Given the description of an element on the screen output the (x, y) to click on. 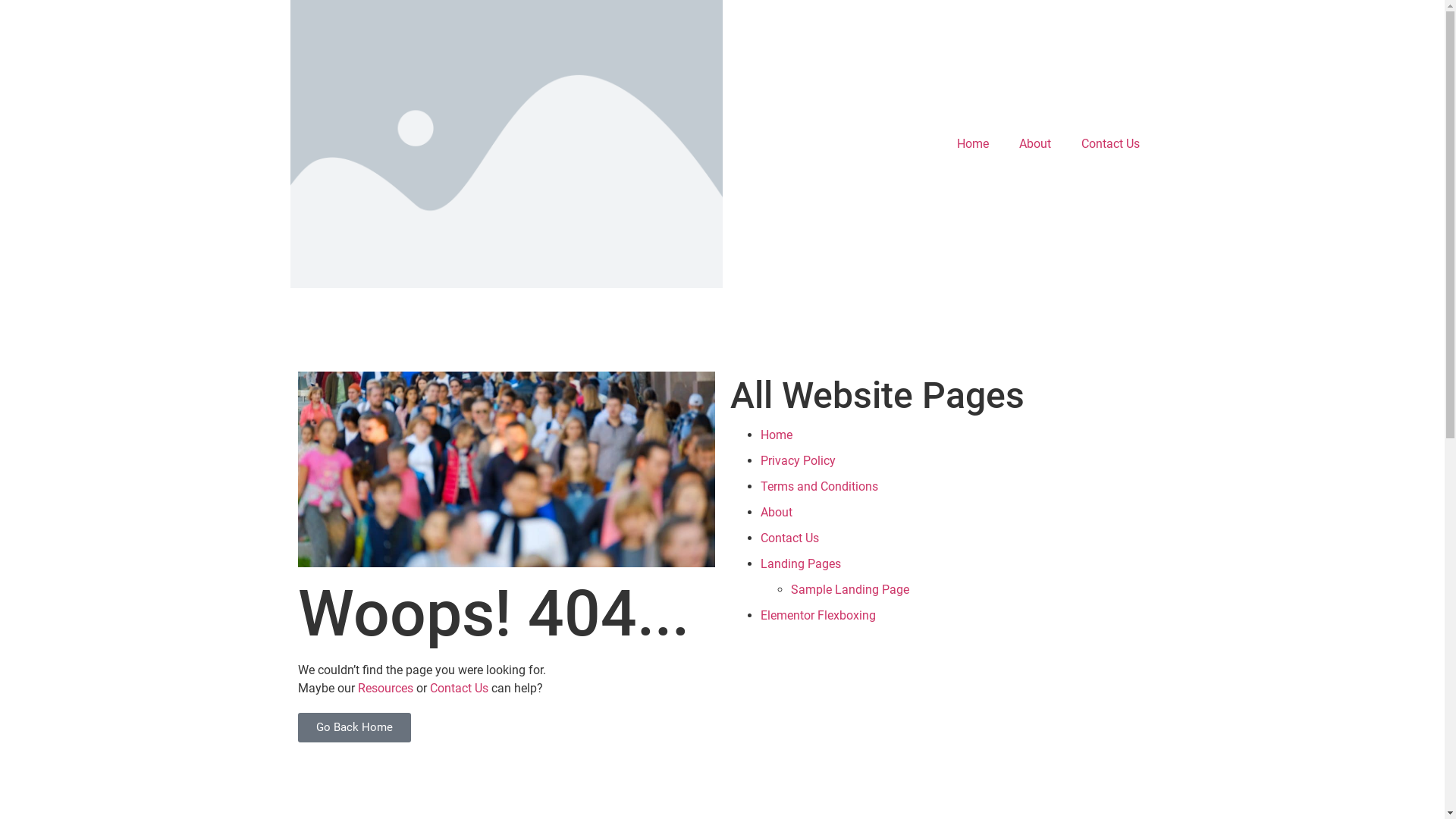
Resources Element type: text (385, 687)
Contact Us Element type: text (1110, 143)
Elementor Flexboxing Element type: text (817, 615)
Contact Us Element type: text (788, 537)
Terms and Conditions Element type: text (818, 486)
About Element type: text (1035, 143)
About Element type: text (775, 512)
Privacy Policy Element type: text (796, 460)
Landing Pages Element type: text (799, 563)
Go Back Home Element type: text (353, 727)
Home Element type: text (972, 143)
Contact Us Element type: text (458, 687)
Home Element type: text (775, 434)
Sample Landing Page Element type: text (849, 589)
